Given the description of an element on the screen output the (x, y) to click on. 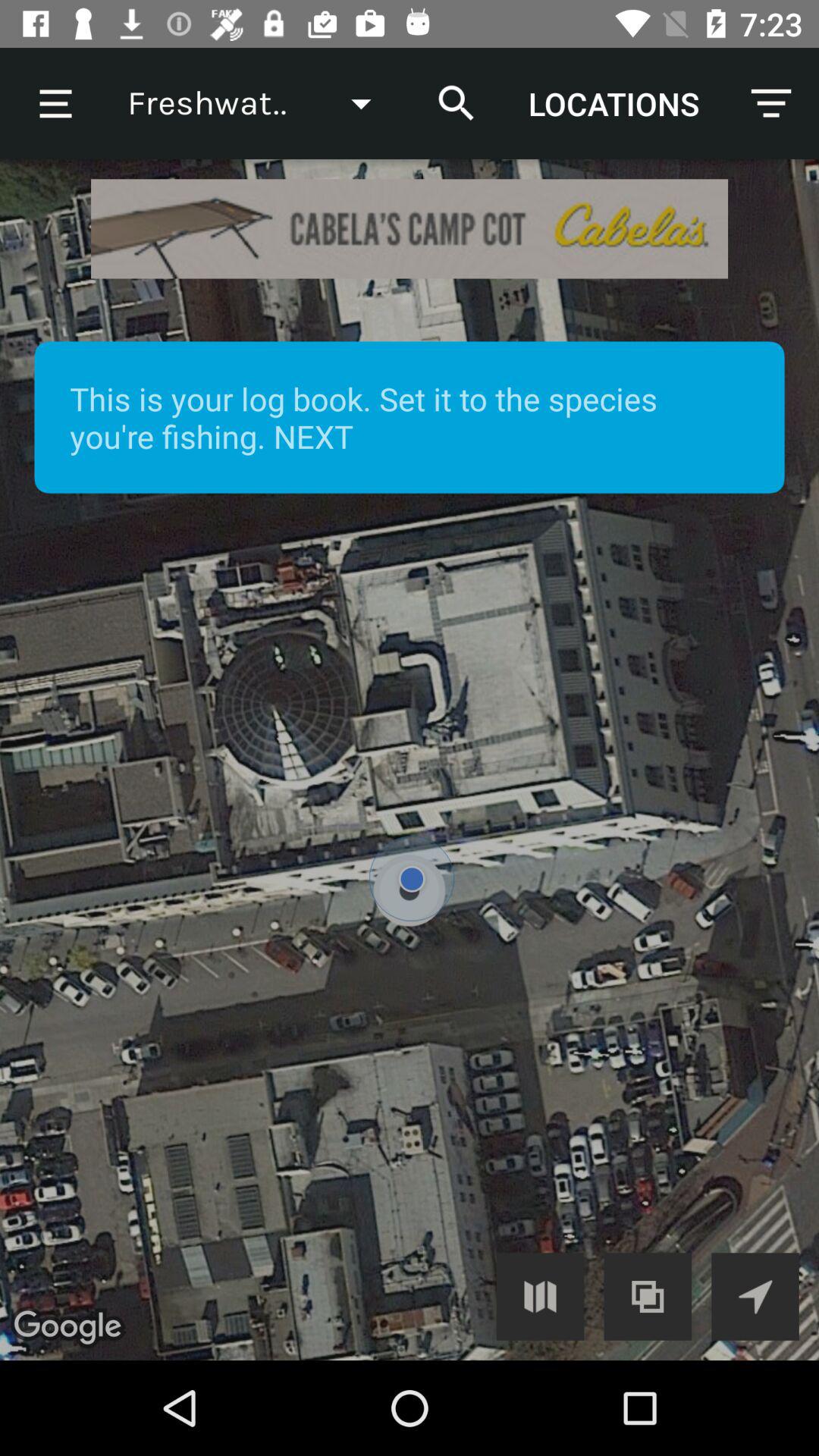
log in (540, 1296)
